Given the description of an element on the screen output the (x, y) to click on. 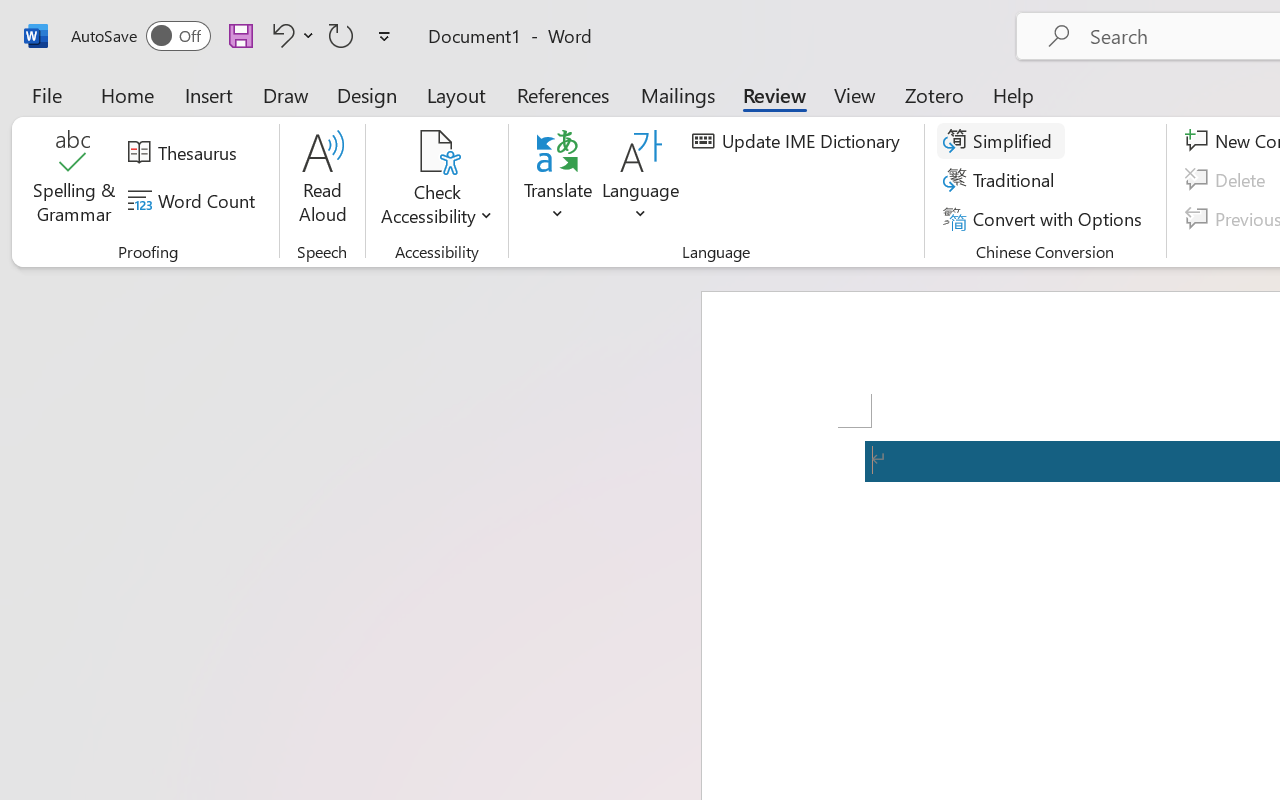
Language (641, 179)
Undo Apply Quick Style Set (290, 35)
Convert with Options... (1045, 218)
Thesaurus... (185, 153)
Undo Apply Quick Style Set (280, 35)
Delete (1227, 179)
